Given the description of an element on the screen output the (x, y) to click on. 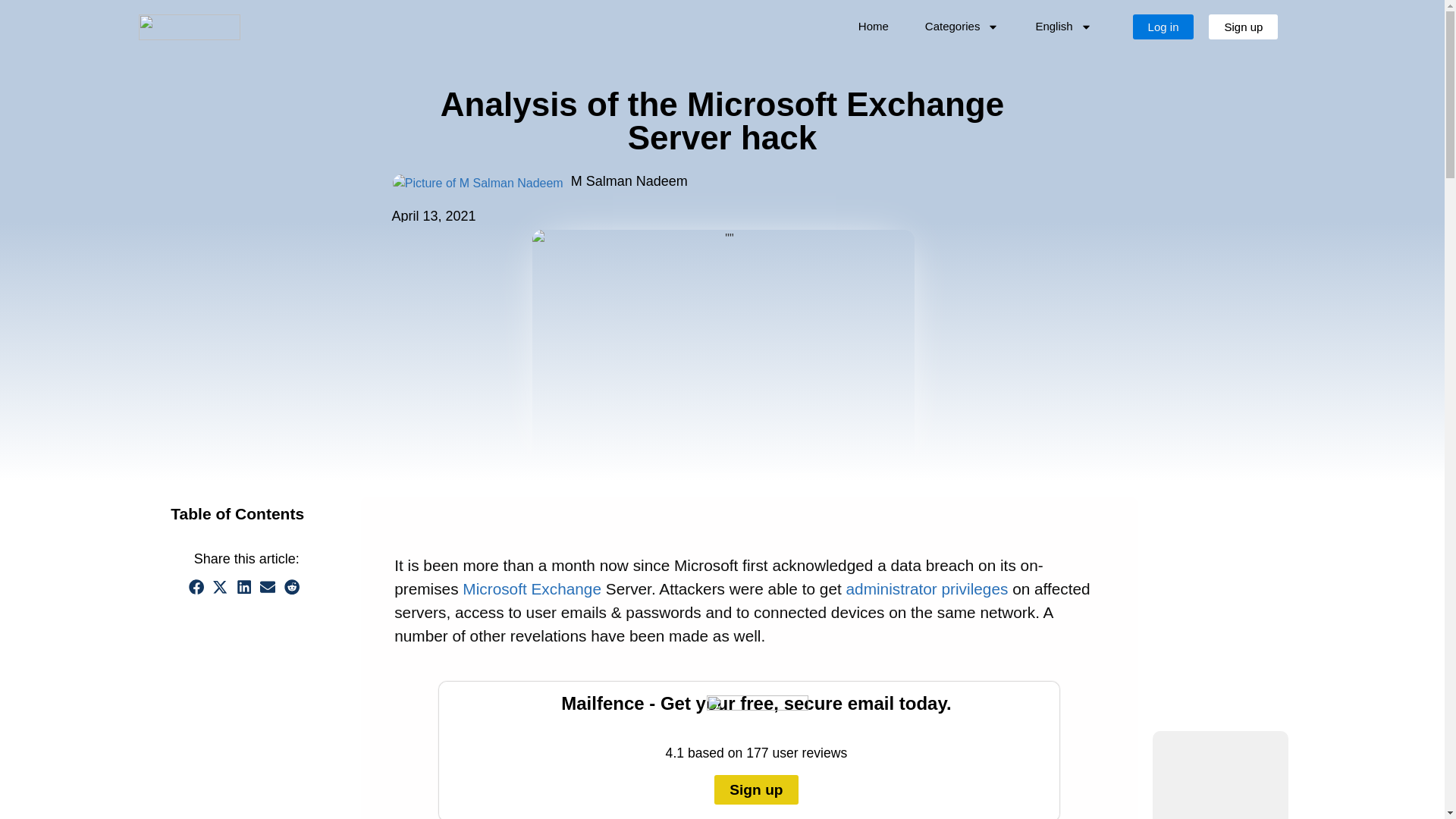
Home (873, 26)
M Salman Nadeem (643, 181)
Microsoft Exchange (532, 588)
Categories (962, 26)
Log in (1162, 25)
English (1062, 26)
Sign up (756, 789)
administrator privileges (927, 588)
Sign up (1243, 25)
English (1062, 26)
